Given the description of an element on the screen output the (x, y) to click on. 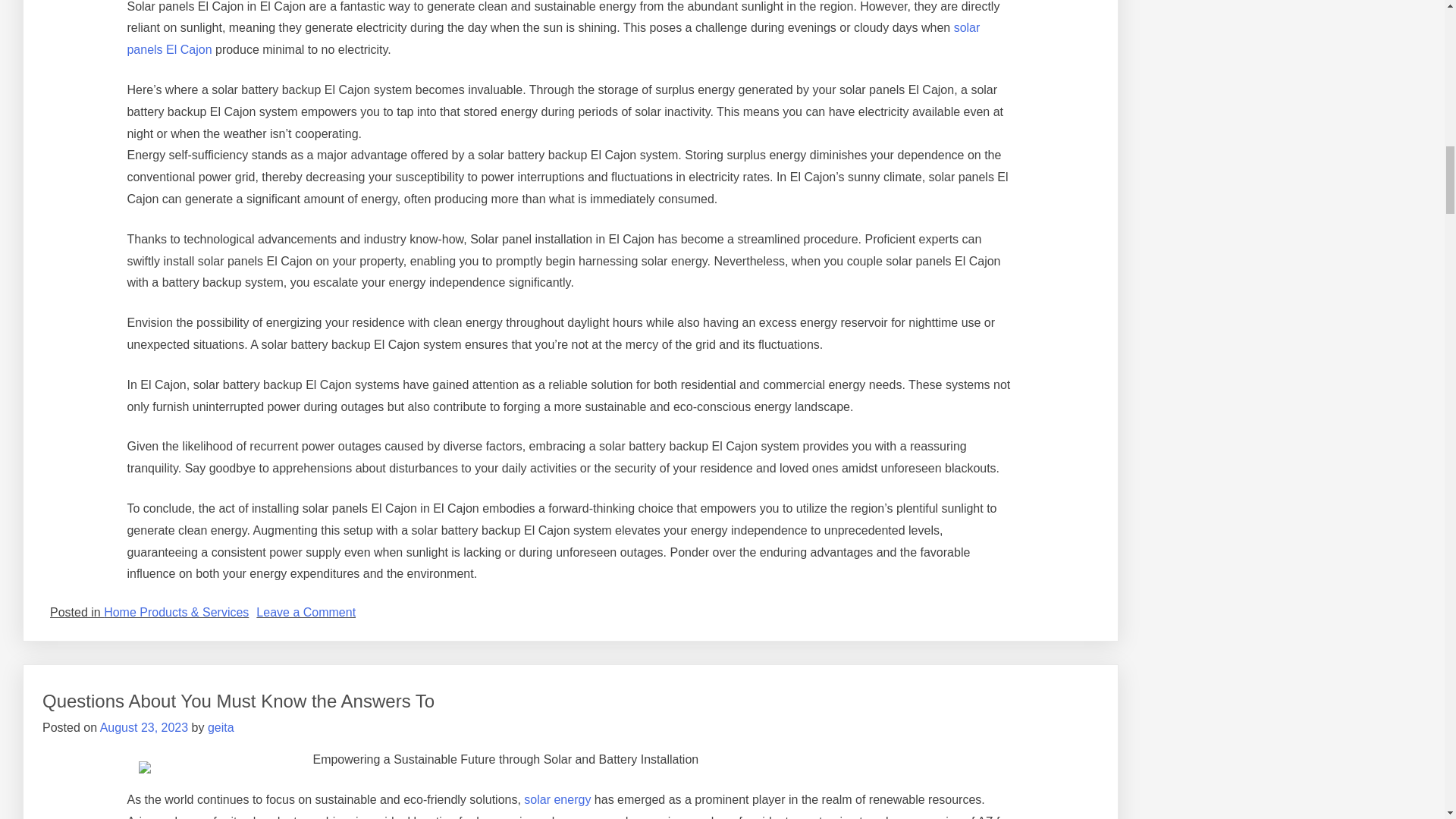
solar energy (556, 799)
geita (221, 727)
Questions About You Must Know the Answers To (237, 701)
solar panels El Cajon (552, 38)
August 23, 2023 (144, 727)
